Given the description of an element on the screen output the (x, y) to click on. 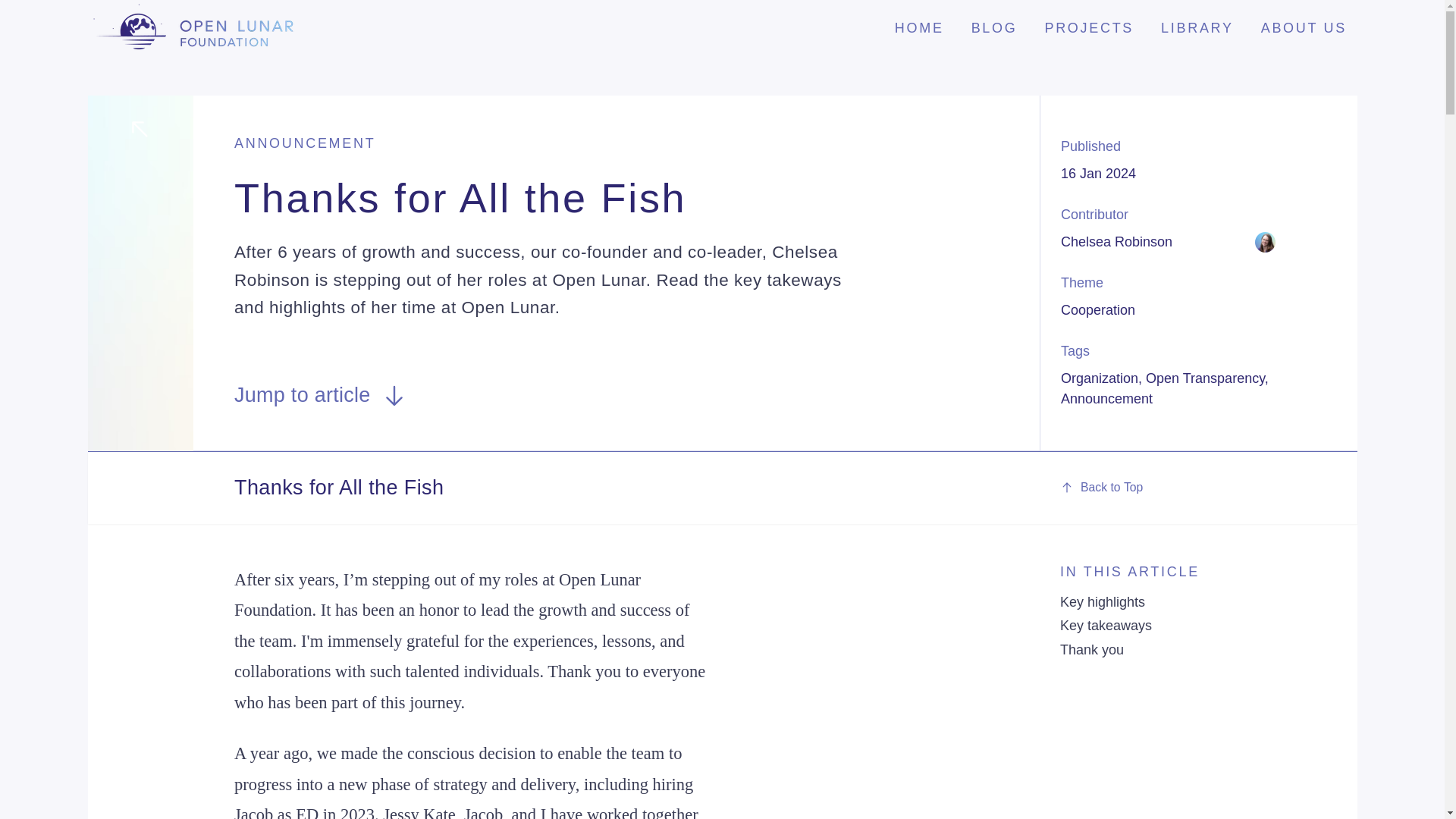
Chelsea Robinson mugshot (1264, 241)
Thank you (1091, 648)
ABOUT US (1303, 27)
Chelsea Robinson (1168, 241)
Back to Top (1197, 487)
ANNOUNCEMENT (304, 142)
Key takeaways (1105, 625)
PROJECTS (1088, 27)
HOME (918, 27)
BLOG (993, 27)
Key highlights (1101, 601)
Jump to article (320, 395)
LIBRARY (1197, 27)
